Given the description of an element on the screen output the (x, y) to click on. 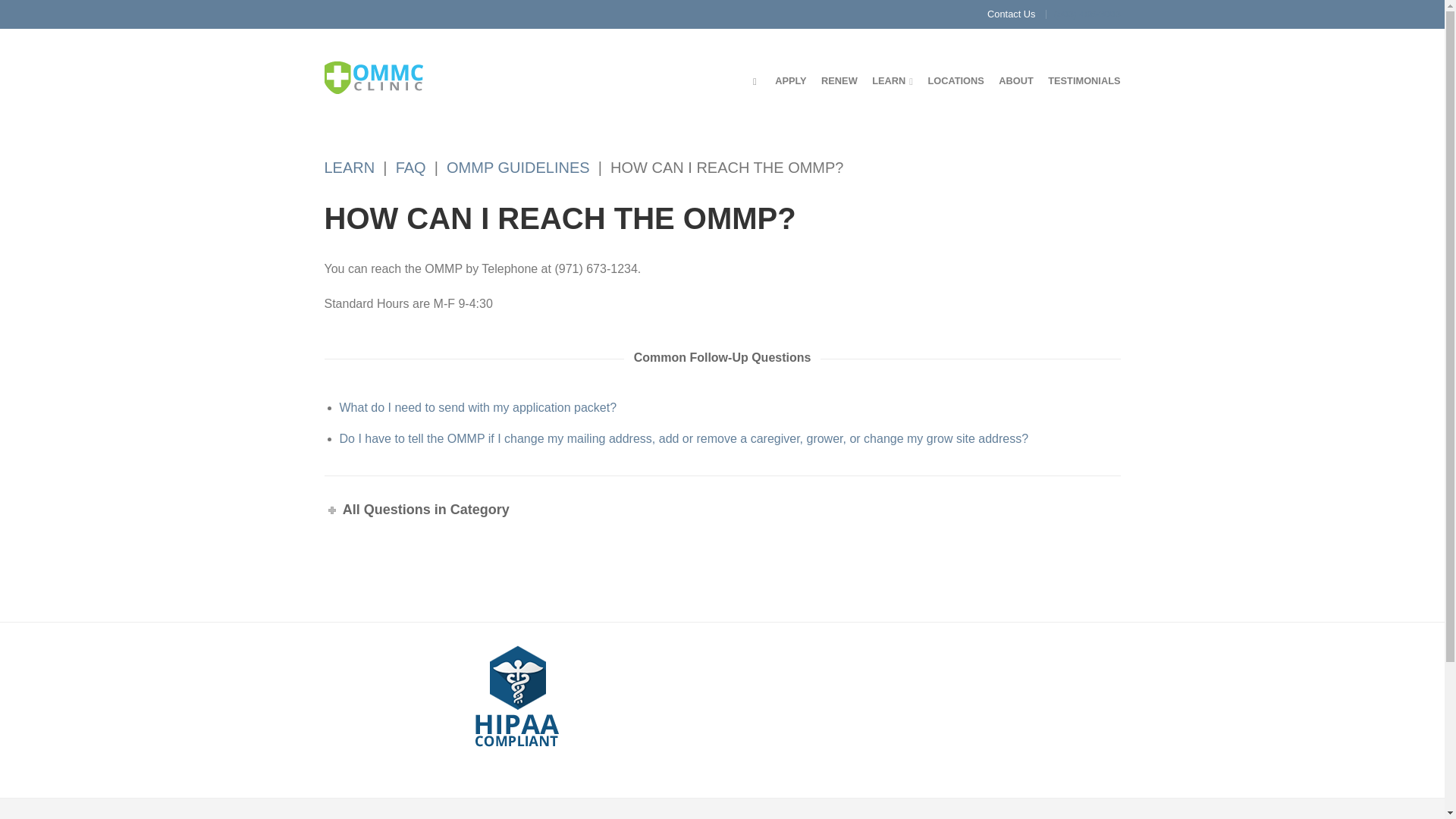
Go to OMMP Guidelines. (517, 167)
LOCATIONS (955, 80)
LEARN (892, 80)
TESTIMONIALS (1083, 80)
FAQ (411, 167)
ABOUT (1015, 80)
OMMP GUIDELINES (517, 167)
Contact Us (1011, 13)
What do I need to send with my application packet? (478, 407)
Go to FAQ. (411, 167)
